Given the description of an element on the screen output the (x, y) to click on. 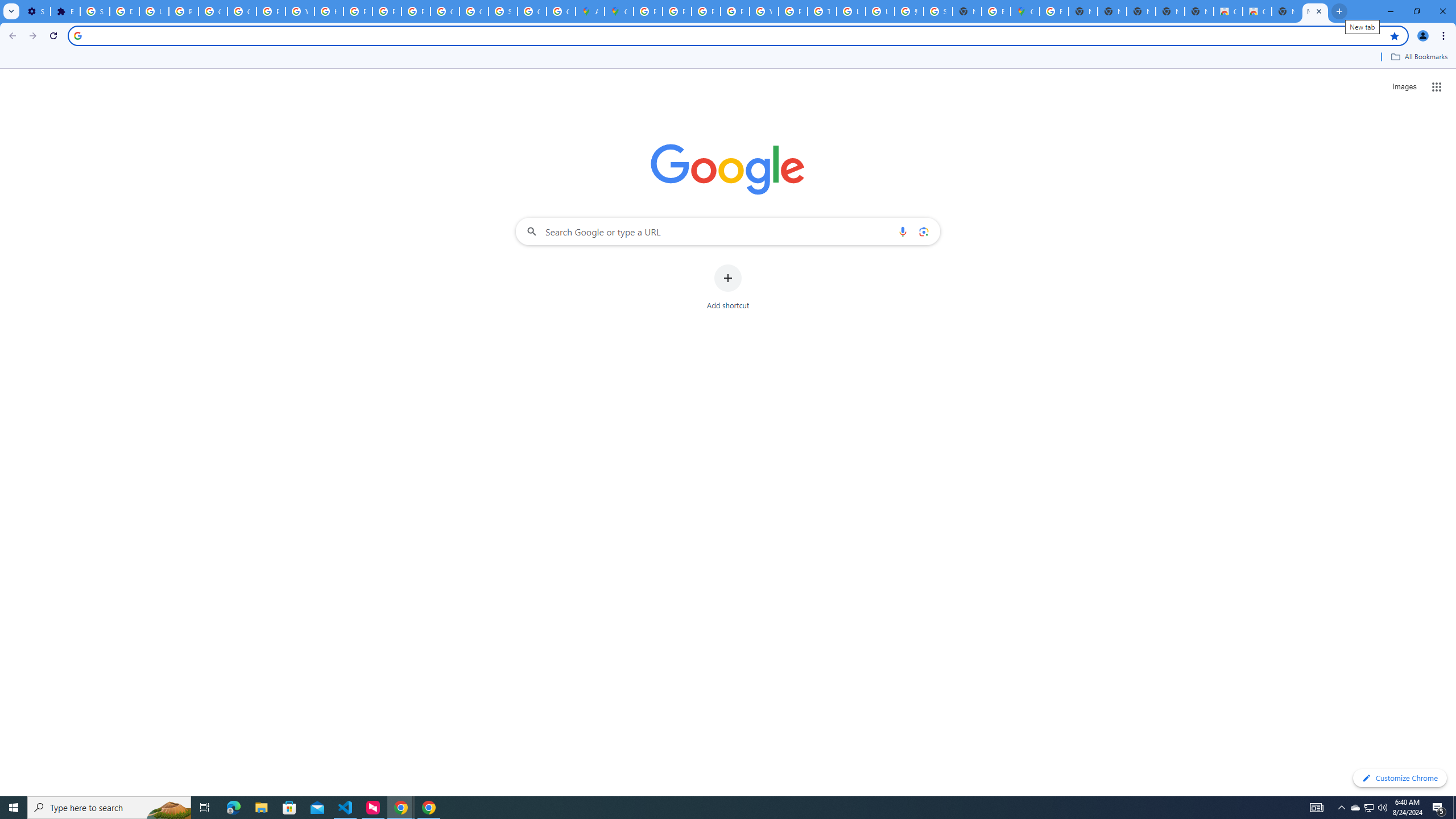
Google Maps (1025, 11)
https://scholar.google.com/ (327, 11)
New Tab (1198, 11)
